Given the description of an element on the screen output the (x, y) to click on. 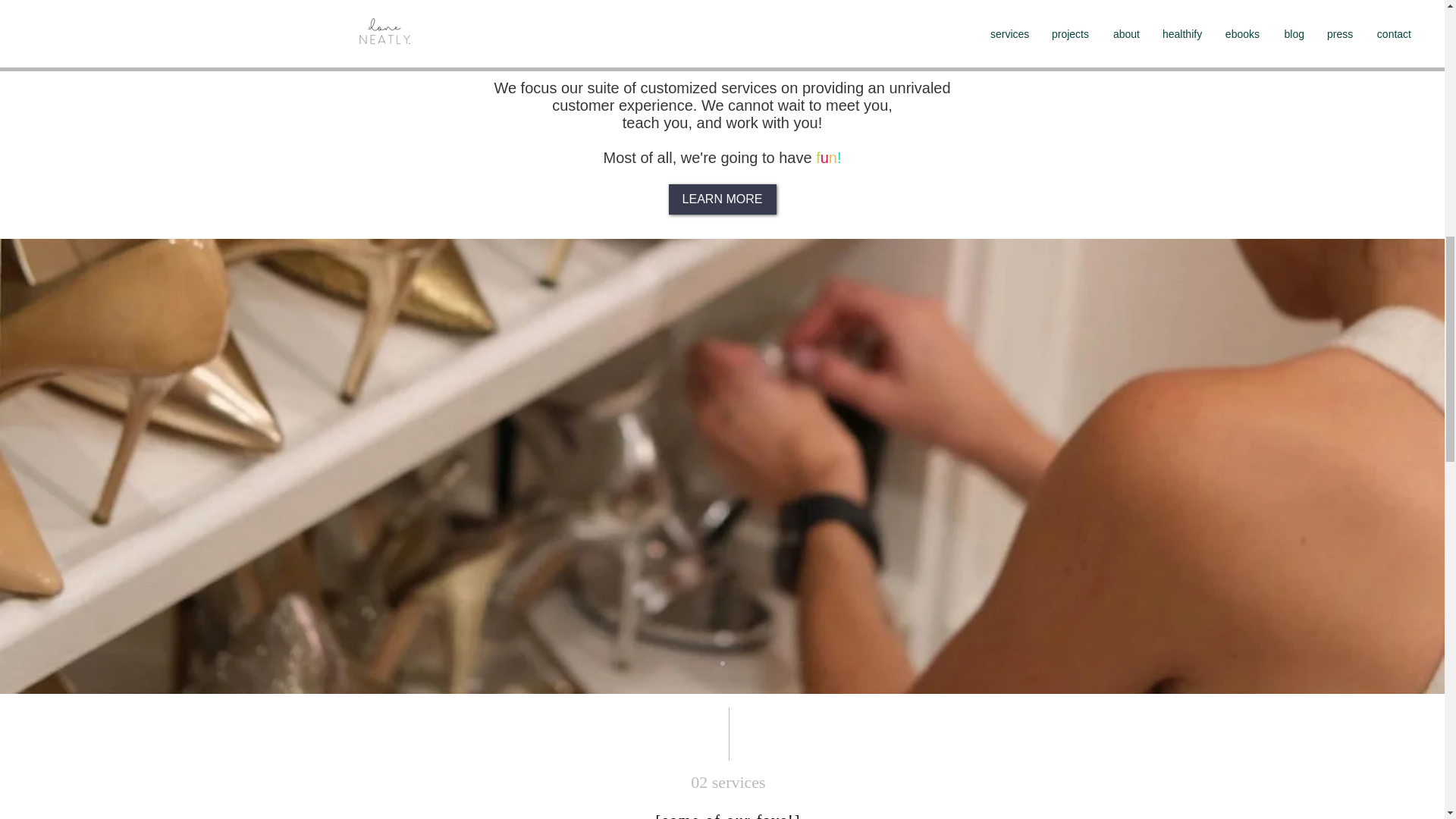
LEARN MORE (722, 199)
